Given the description of an element on the screen output the (x, y) to click on. 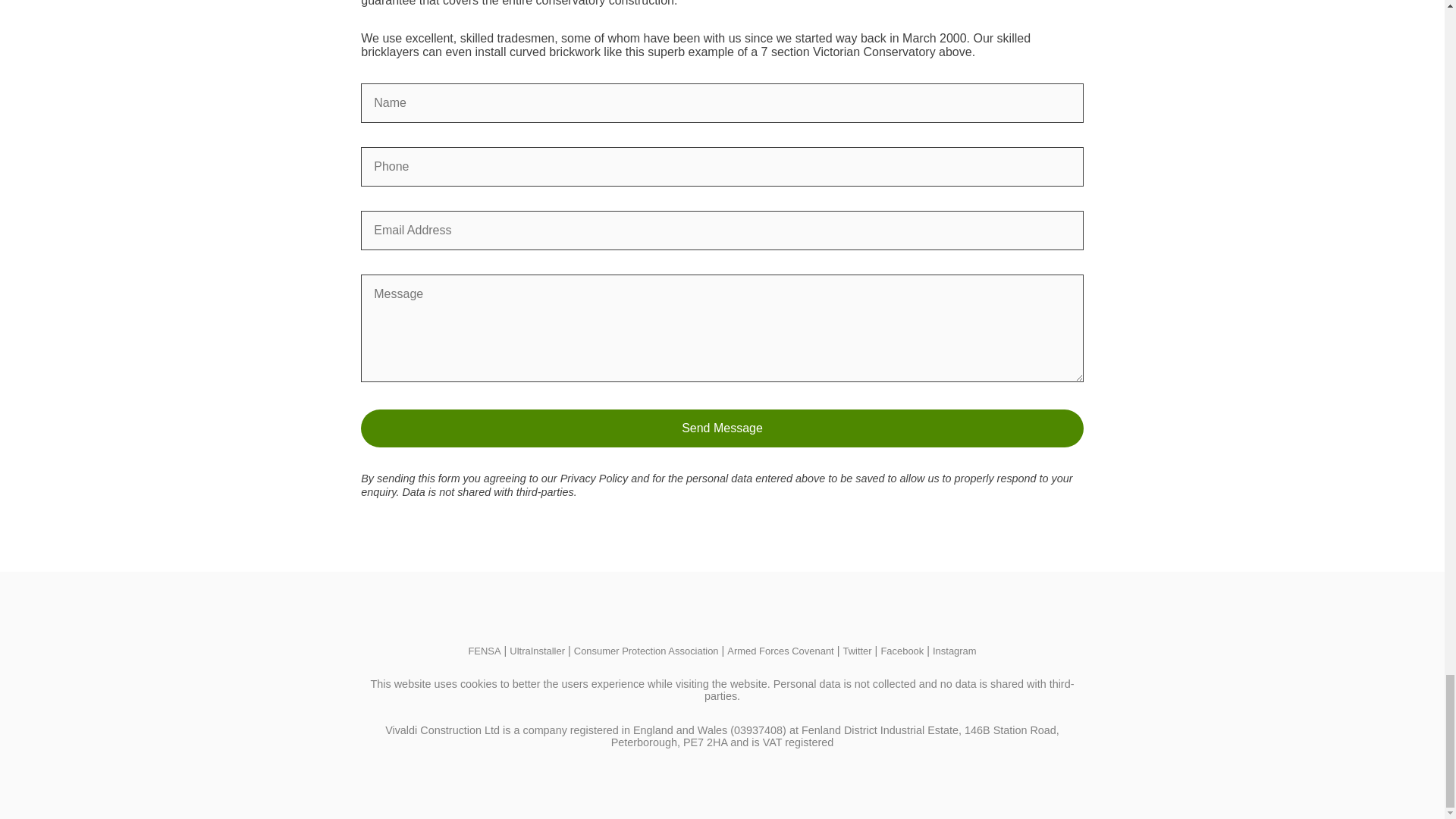
email (722, 230)
message (722, 328)
Send Message (722, 428)
name (722, 102)
phone (722, 166)
